Given the description of an element on the screen output the (x, y) to click on. 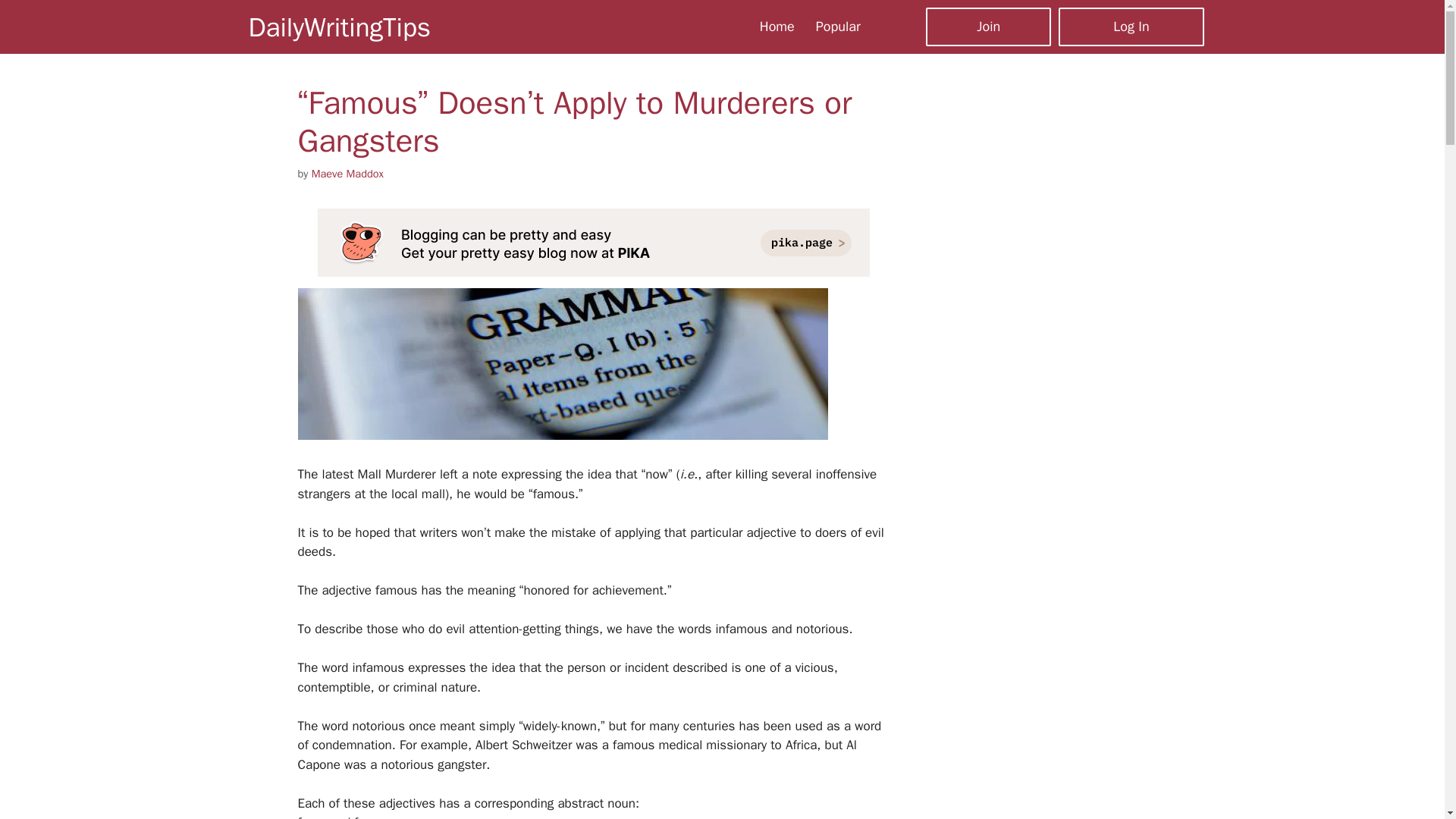
View all posts by Maeve Maddox (347, 173)
Popular (837, 26)
Maeve Maddox (347, 173)
Log In (1131, 26)
Home (777, 26)
Join (988, 26)
